Given the description of an element on the screen output the (x, y) to click on. 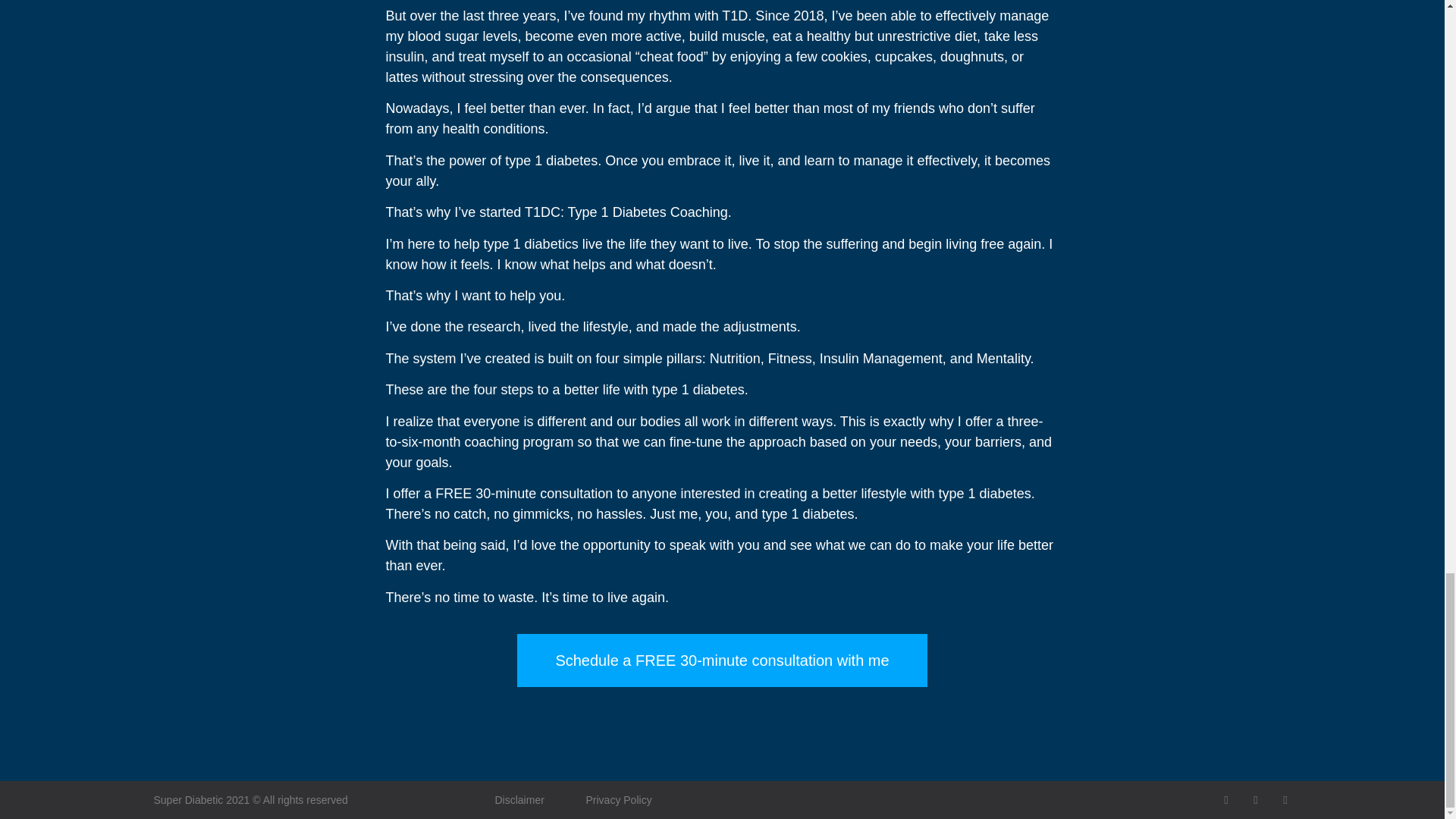
Disclaimer (519, 799)
Privacy Policy (617, 799)
Schedule a FREE 30-minute consultation with me (721, 660)
